Given the description of an element on the screen output the (x, y) to click on. 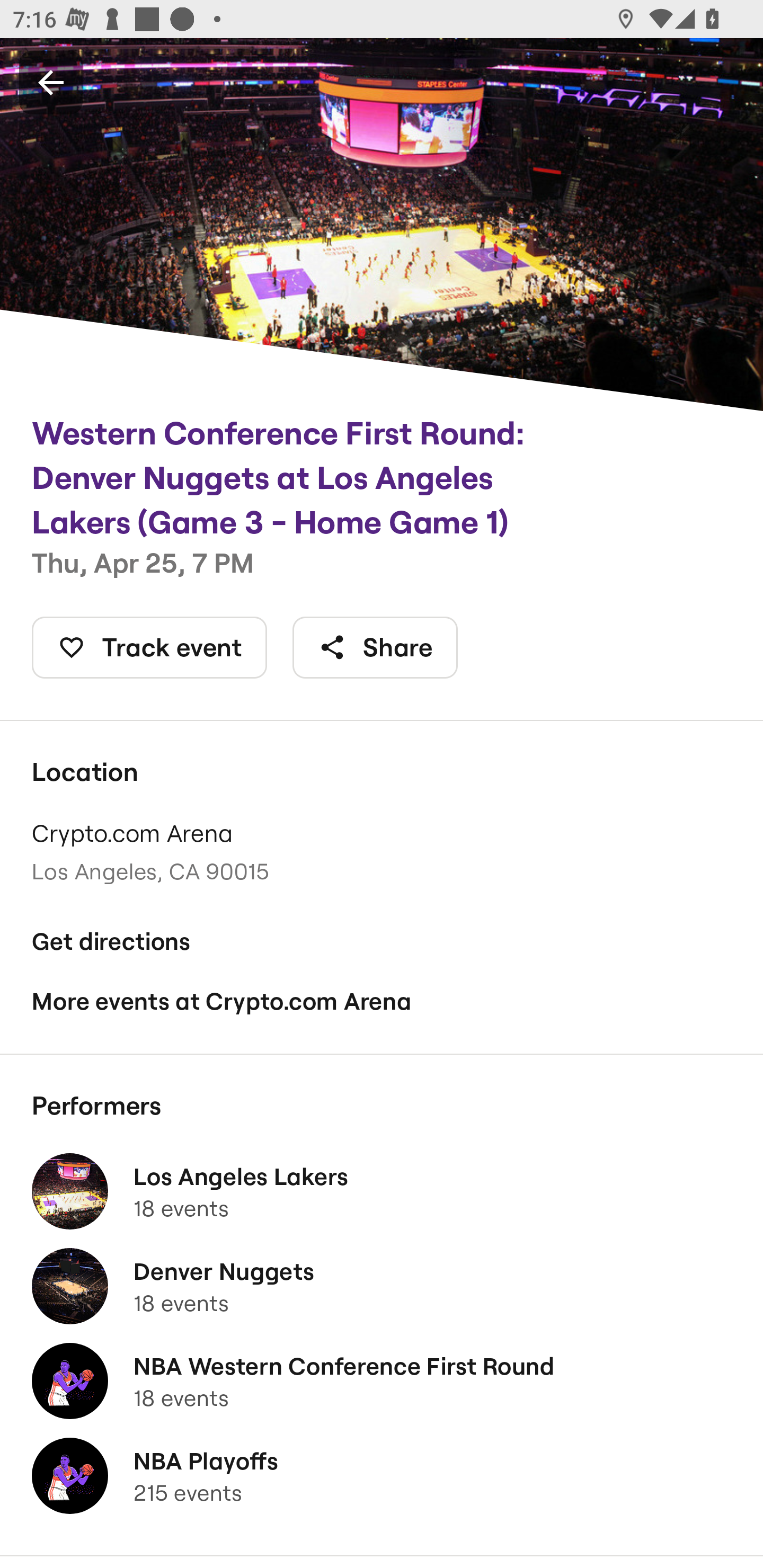
Back (50, 81)
Track event (149, 647)
Share (374, 647)
Get directions (381, 941)
More events at Crypto.com Arena (381, 1001)
Los Angeles Lakers 18 events (381, 1191)
Denver Nuggets 18 events (381, 1286)
NBA Western Conference First Round 18 events (381, 1381)
NBA Playoffs 215 events (381, 1476)
